Given the description of an element on the screen output the (x, y) to click on. 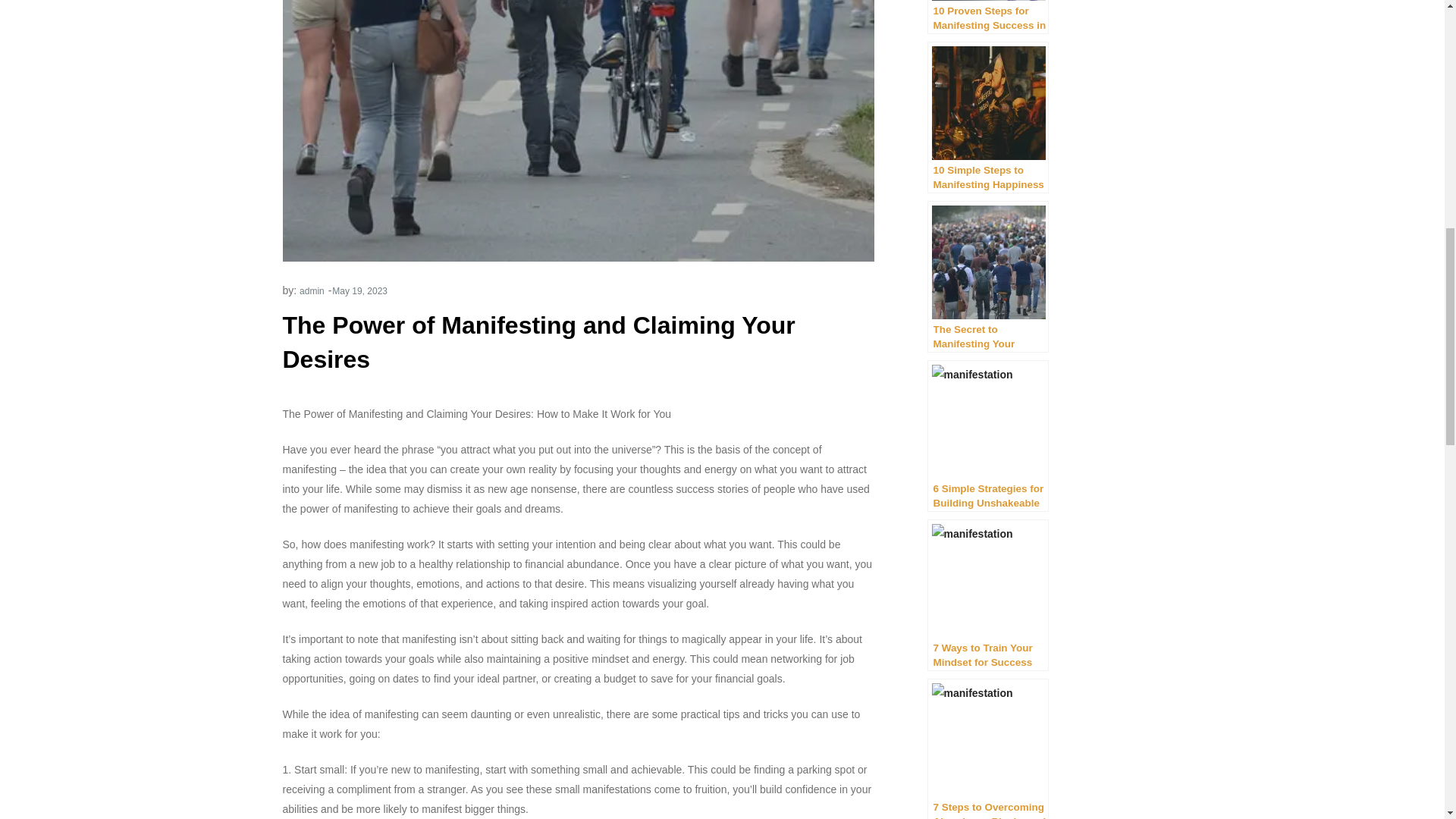
admin (311, 290)
May 19, 2023 (359, 290)
10 Proven Steps for Manifesting Success in Your Life (987, 17)
10 Proven Steps for Manifesting Success in Your Life (987, 17)
